Given the description of an element on the screen output the (x, y) to click on. 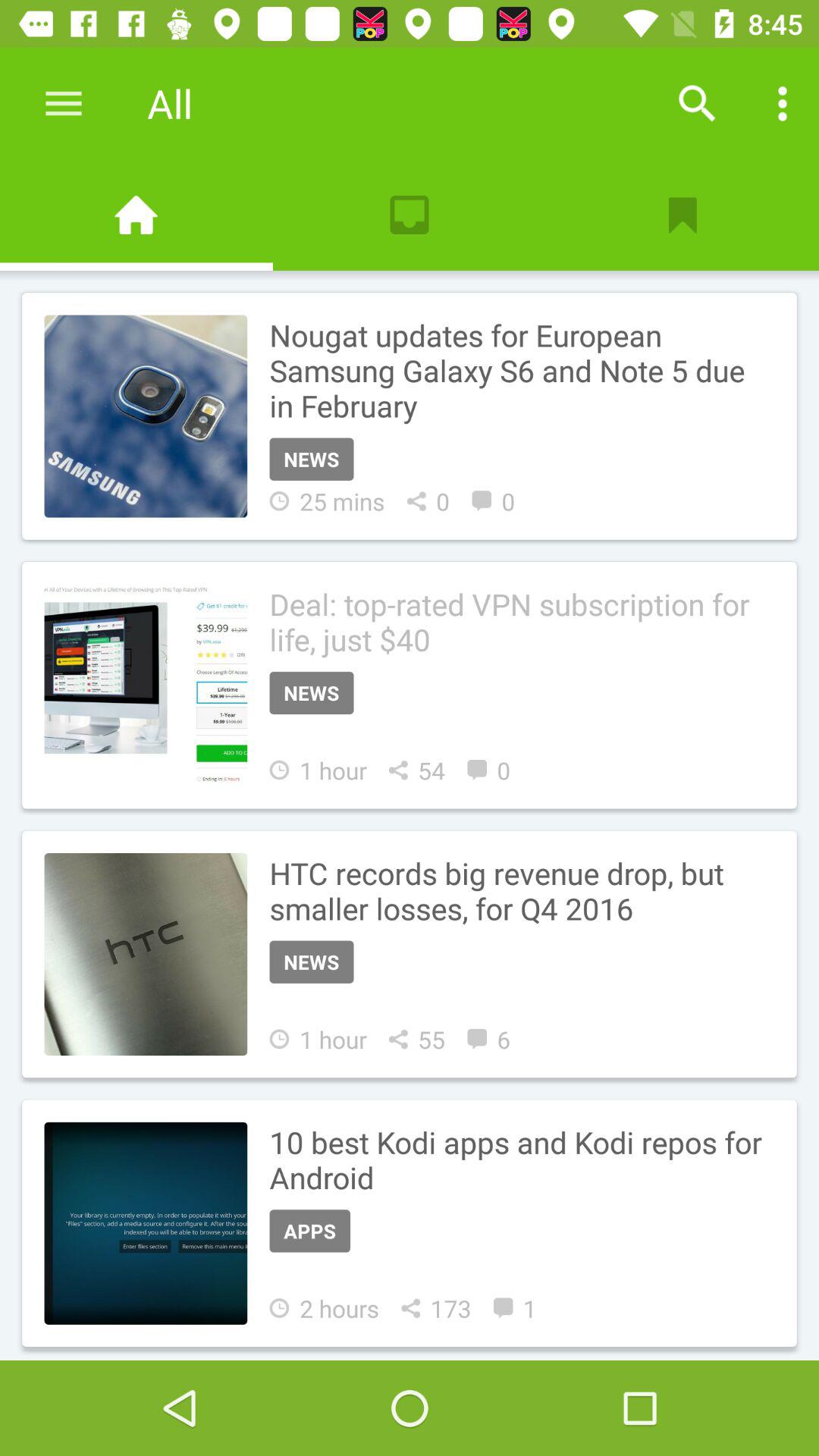
settings (63, 103)
